Given the description of an element on the screen output the (x, y) to click on. 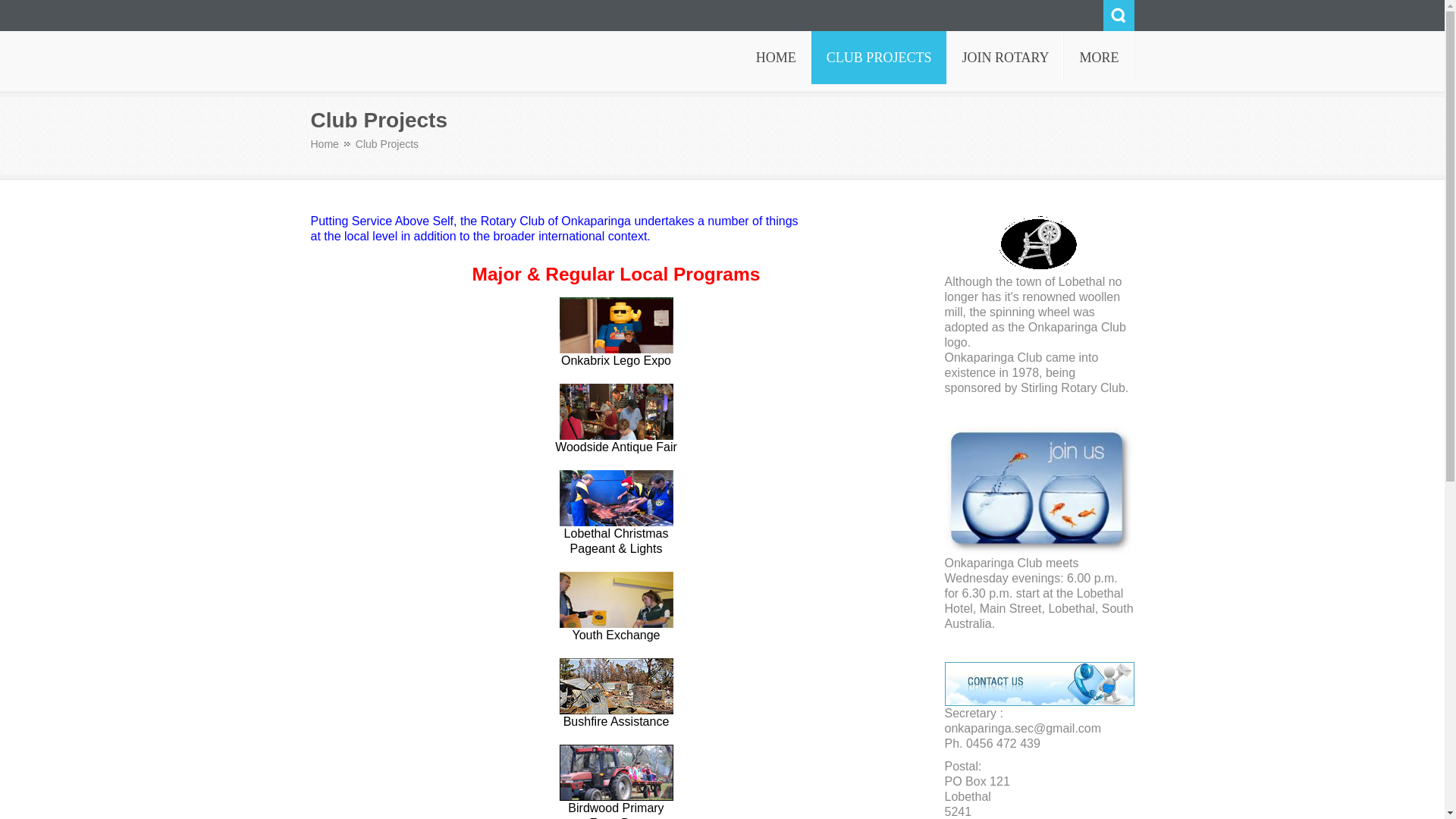
CLUB PROJECTS Element type: text (879, 57)
MORE Element type: text (1098, 57)
Home Element type: text (330, 143)
HOME Element type: text (775, 57)
Search Element type: text (1117, 15)
JOIN ROTARY Element type: text (1004, 57)
Contact Us Element type: hover (1039, 682)
